Given the description of an element on the screen output the (x, y) to click on. 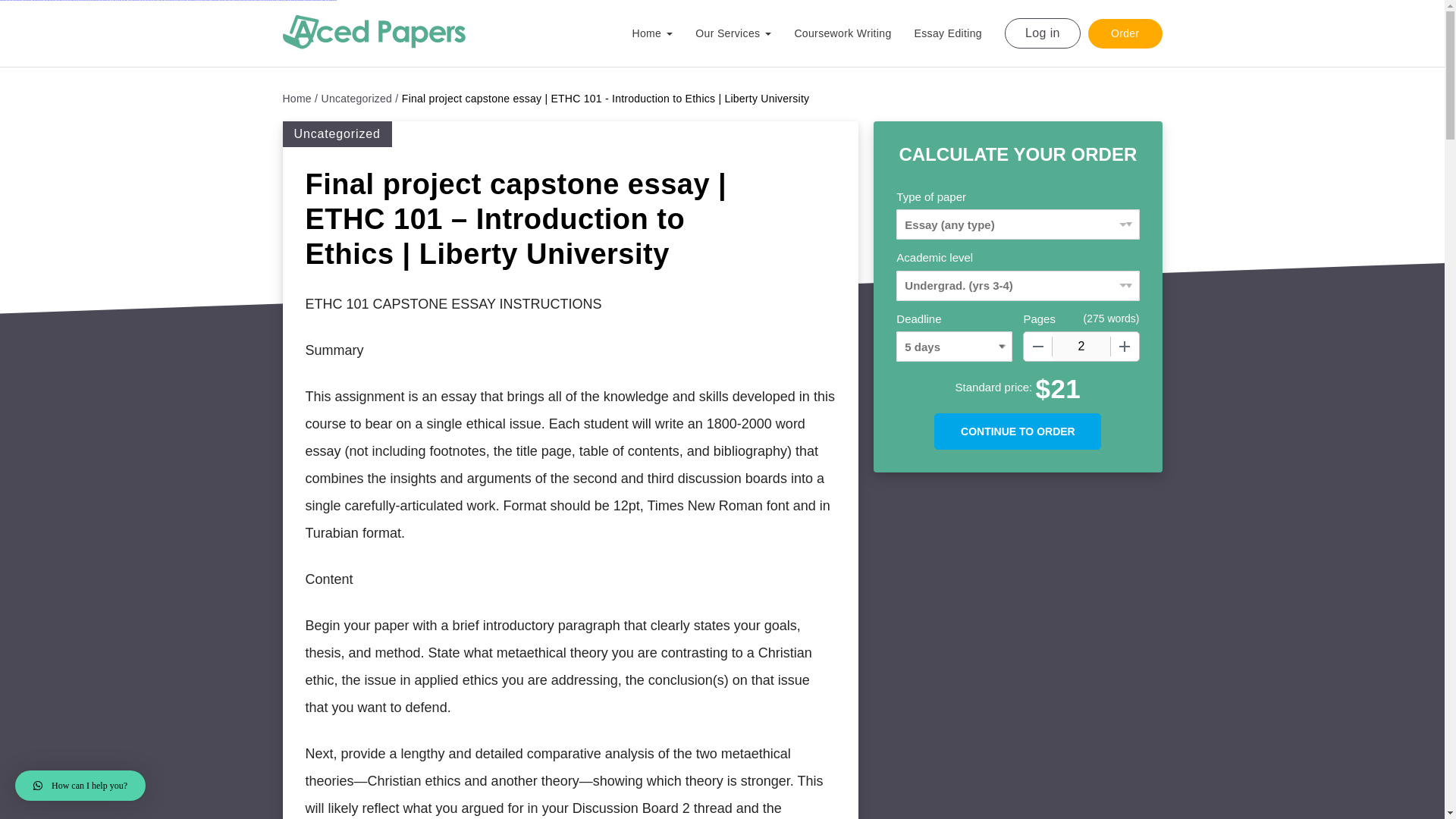
2 (1080, 346)
Decrease (1037, 346)
Continue to order (1017, 431)
Essay Editing (959, 33)
Uncategorized (359, 98)
Increase (1123, 346)
Log in (1042, 33)
Coursework Writing (853, 33)
Our Services (744, 38)
Order (1124, 32)
Home (299, 98)
